Given the description of an element on the screen output the (x, y) to click on. 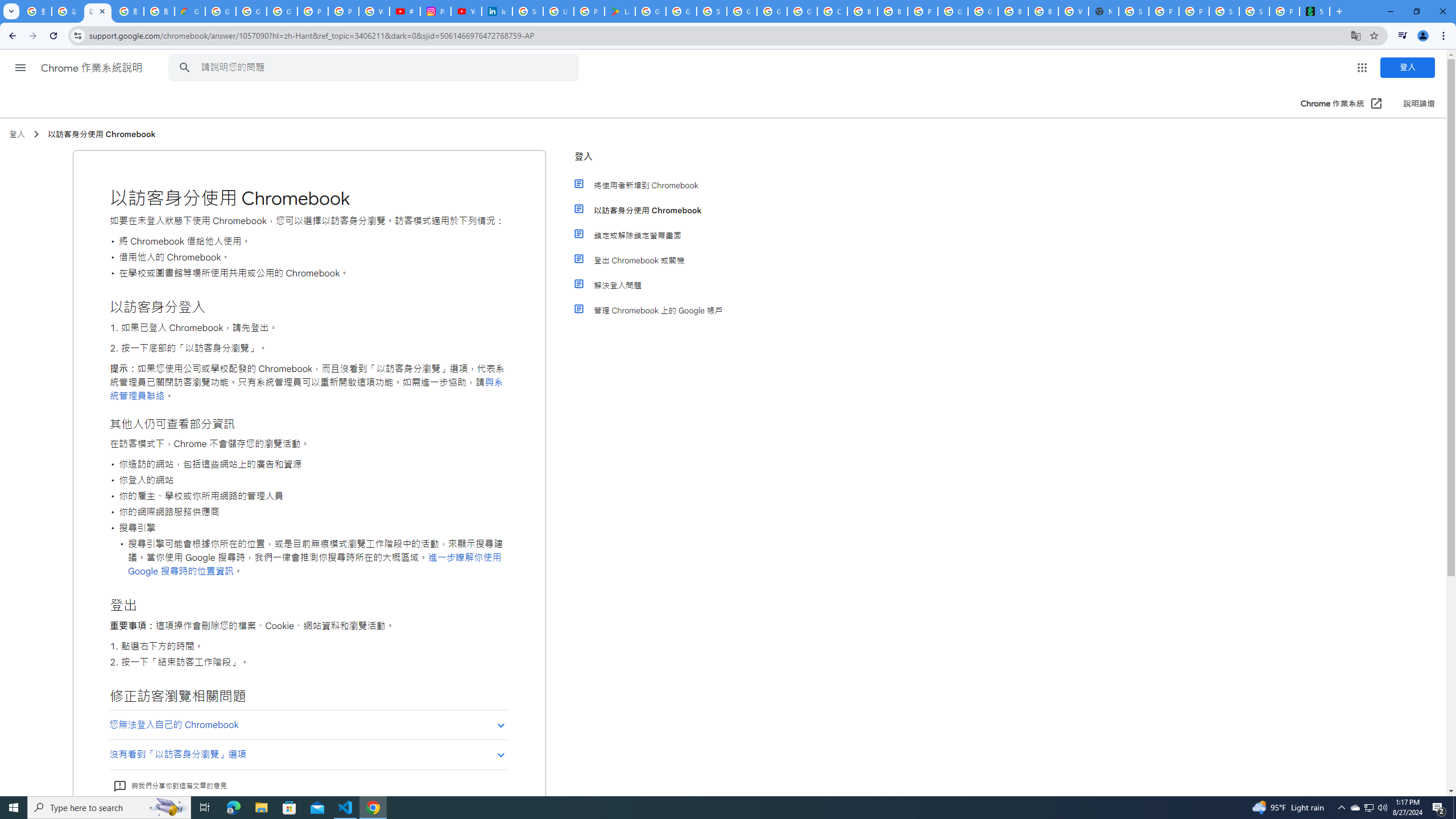
New Tab (1103, 11)
